Given the description of an element on the screen output the (x, y) to click on. 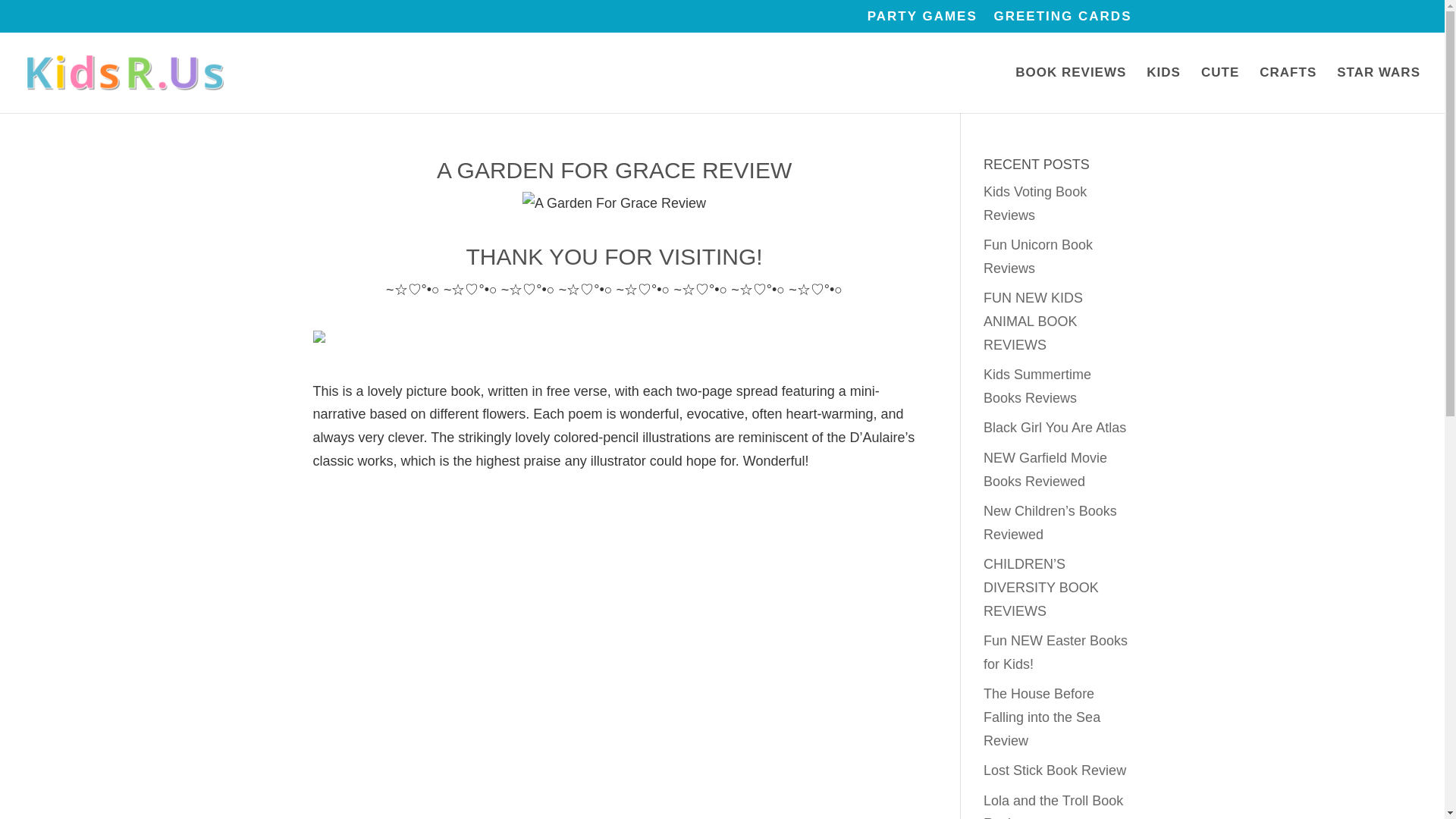
Black Girl You Are Atlas (1054, 427)
STAR WARS (1378, 89)
Lola and the Troll Book Review (1053, 806)
Kids Summertime Books Reviews (1037, 385)
The House Before Falling into the Sea Review (1042, 716)
PARTY GAMES (921, 20)
Fun NEW Easter Books for Kids! (1055, 652)
NEW Garfield Movie Books Reviewed (1045, 469)
Kids Voting Book Reviews (1035, 203)
Fun Unicorn Book Reviews (1038, 256)
